Given the description of an element on the screen output the (x, y) to click on. 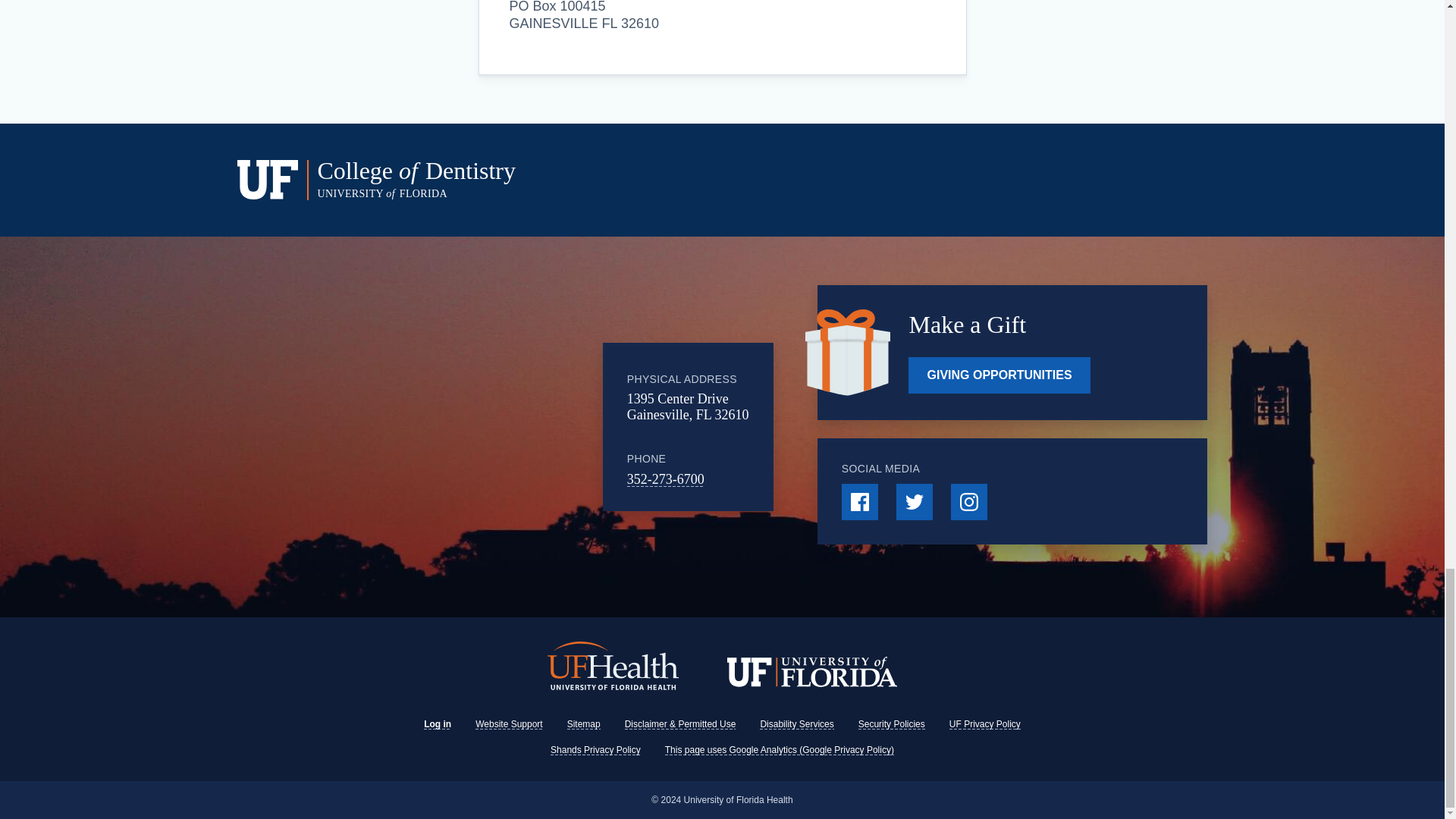
Security Policies (891, 724)
Website Support (509, 724)
Log in (437, 724)
Disability Services (796, 724)
Sitemap (583, 724)
Shands Privacy Policy (595, 749)
352-273-6700 (665, 478)
Google Maps Embed (478, 426)
UF Privacy Policy (984, 724)
